Given the description of an element on the screen output the (x, y) to click on. 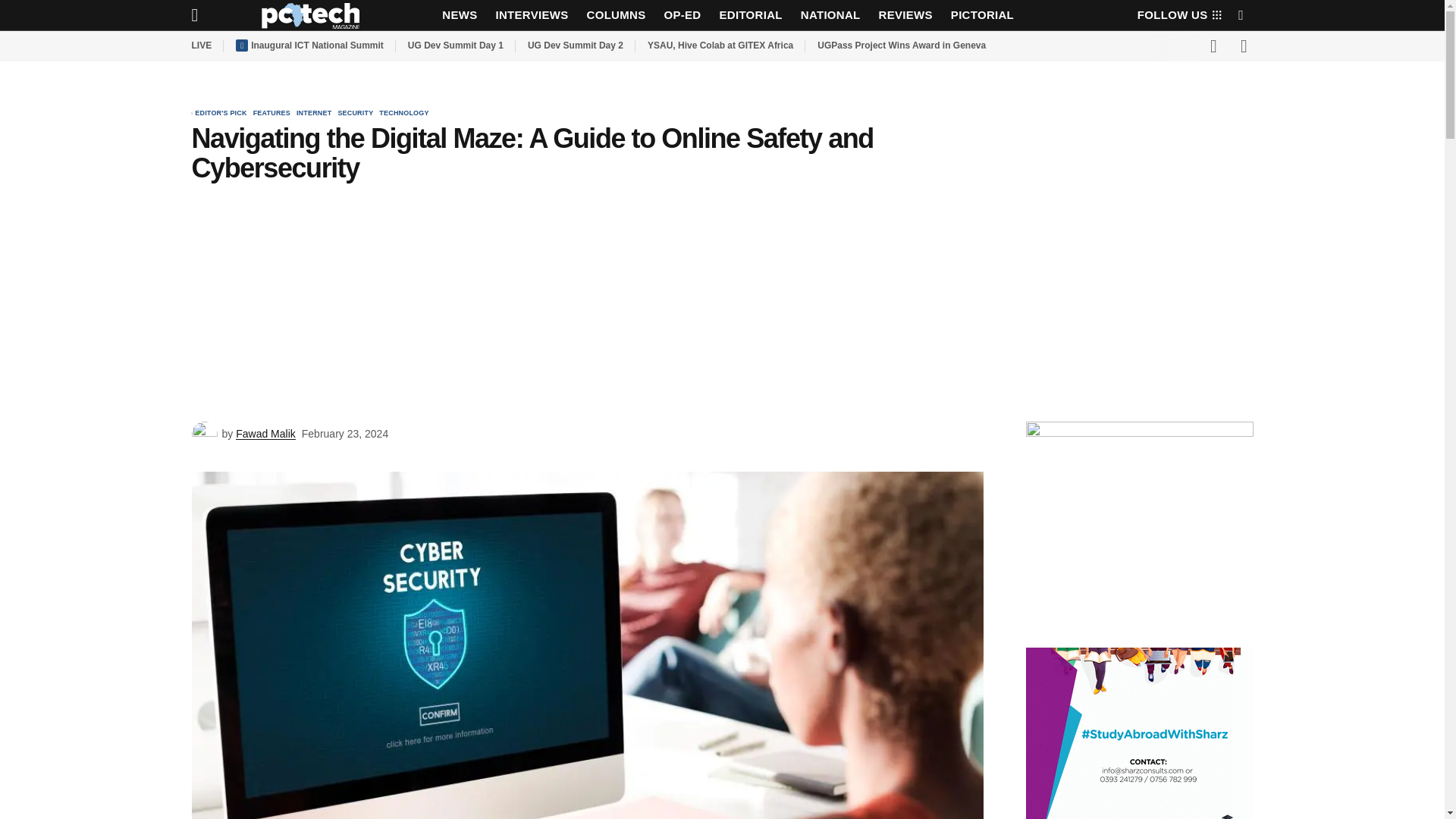
NEWS (459, 15)
